Given the description of an element on the screen output the (x, y) to click on. 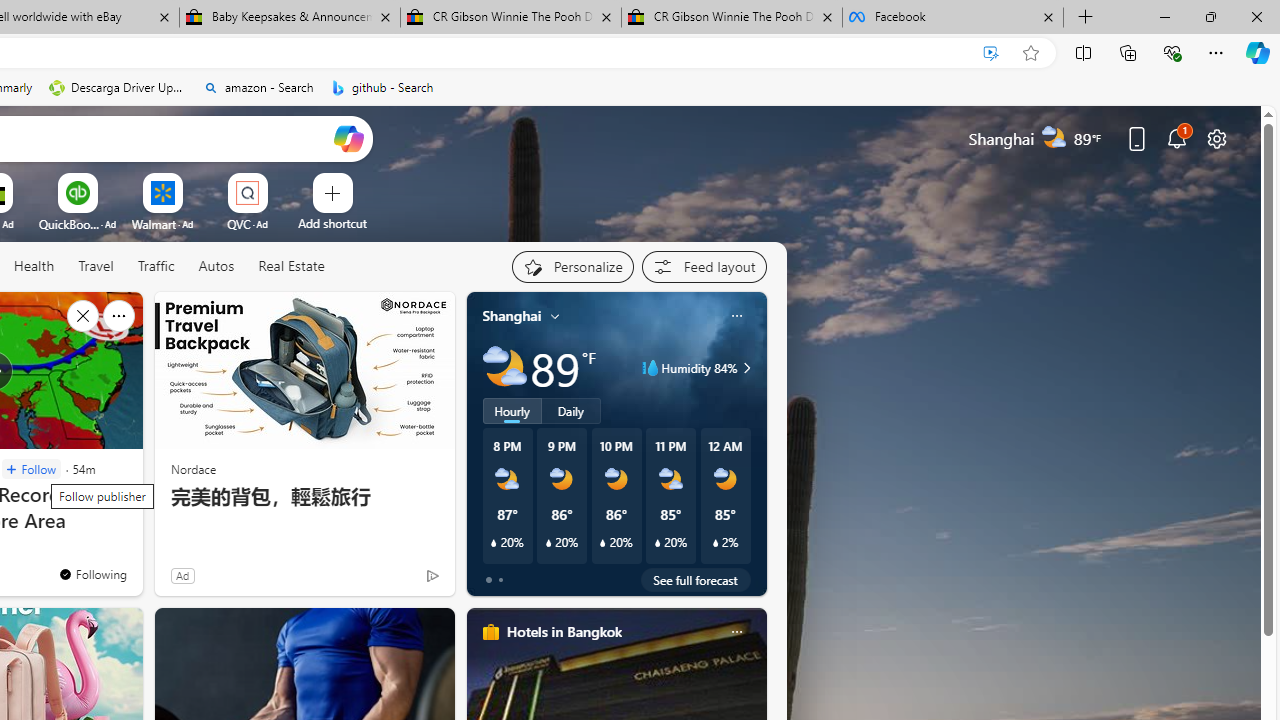
Enhance video (991, 53)
Class: weather-current-precipitation-glyph (715, 543)
tab-1 (500, 579)
Feed settings (703, 266)
Traffic (155, 267)
Shanghai (511, 315)
Hotels in Bangkok (563, 631)
